Given the description of an element on the screen output the (x, y) to click on. 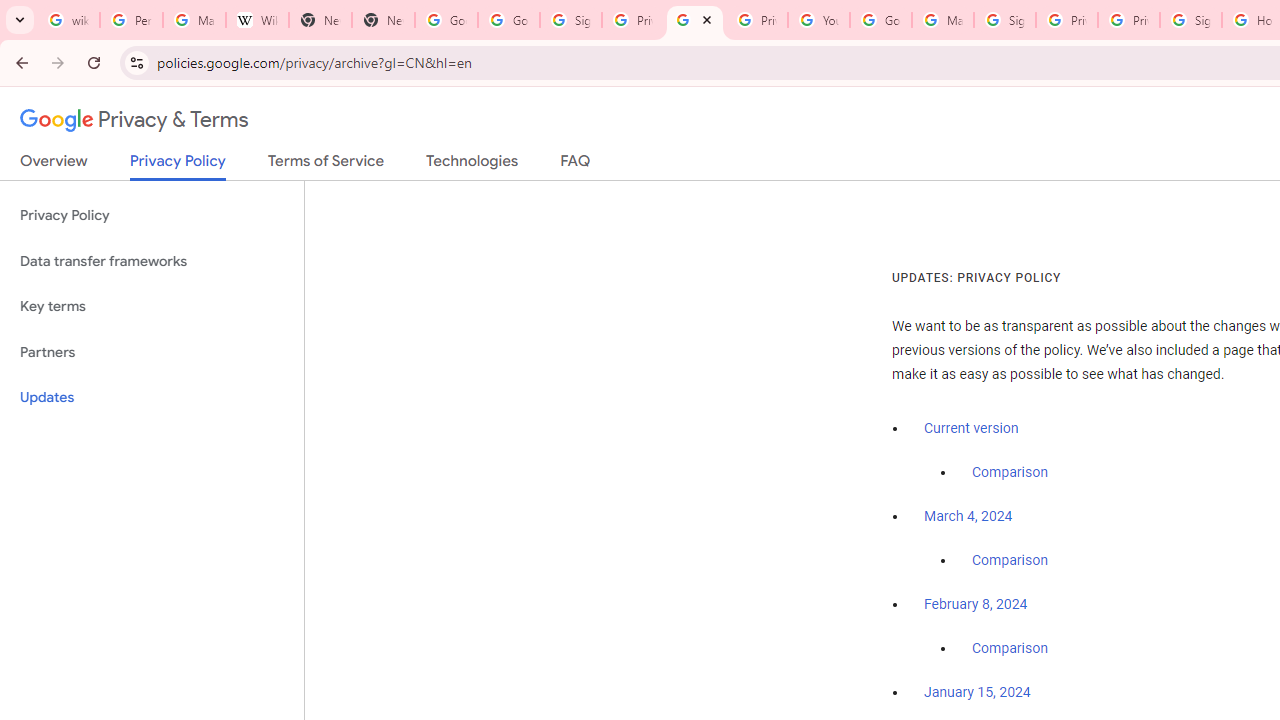
Wikipedia:Edit requests - Wikipedia (257, 20)
Personalization & Google Search results - Google Search Help (130, 20)
March 4, 2024 (968, 517)
Google Drive: Sign-in (508, 20)
Comparison (1009, 649)
February 8, 2024 (975, 605)
